Given the description of an element on the screen output the (x, y) to click on. 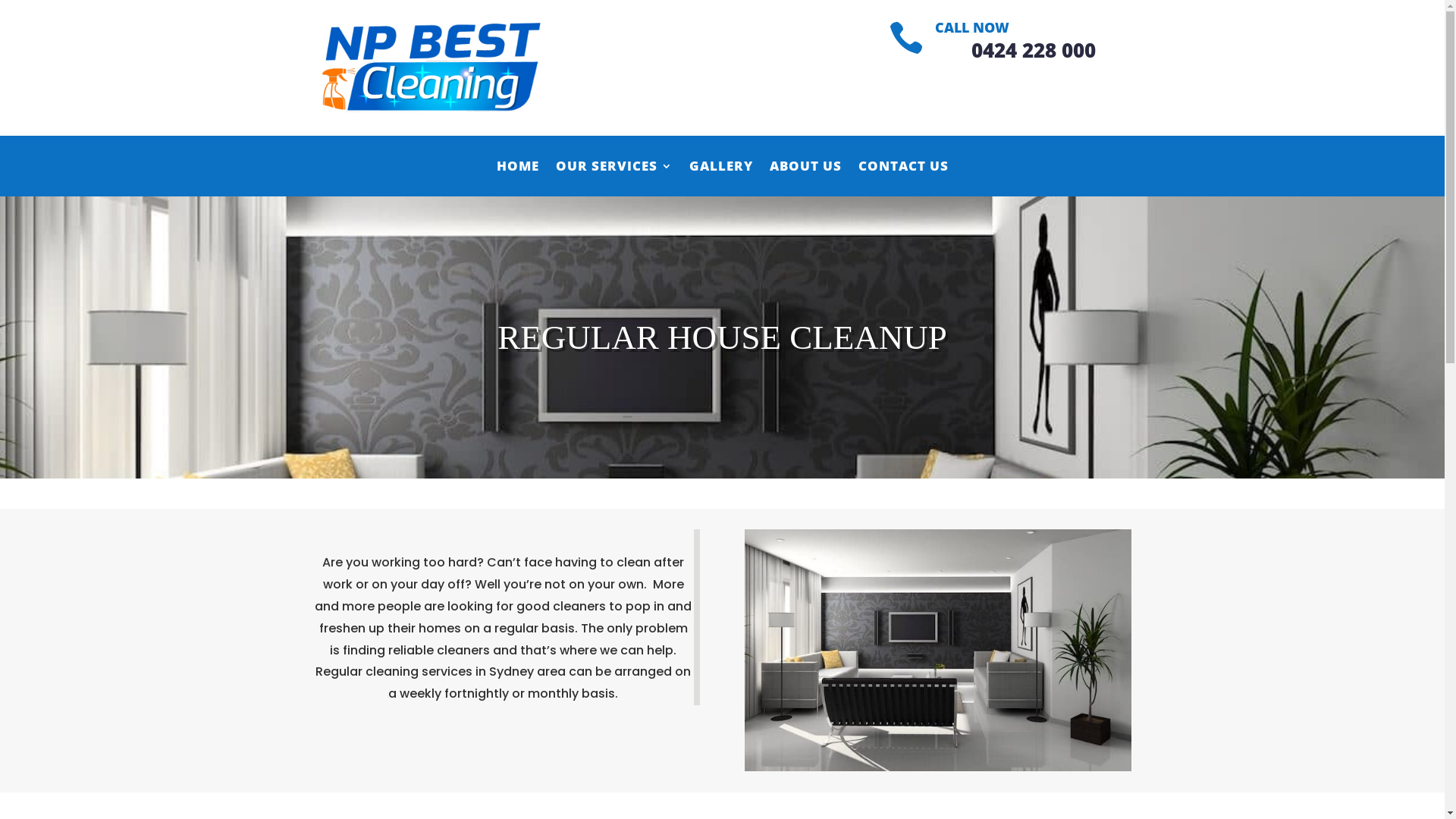
CALL NOW Element type: text (972, 27)
OUR SERVICES Element type: text (613, 176)
0424 228 000 Element type: text (1033, 49)
CONTACT US Element type: text (903, 176)
GALLERY Element type: text (720, 176)
HOME Element type: text (516, 176)
ABOUT US Element type: text (804, 176)
